Given the description of an element on the screen output the (x, y) to click on. 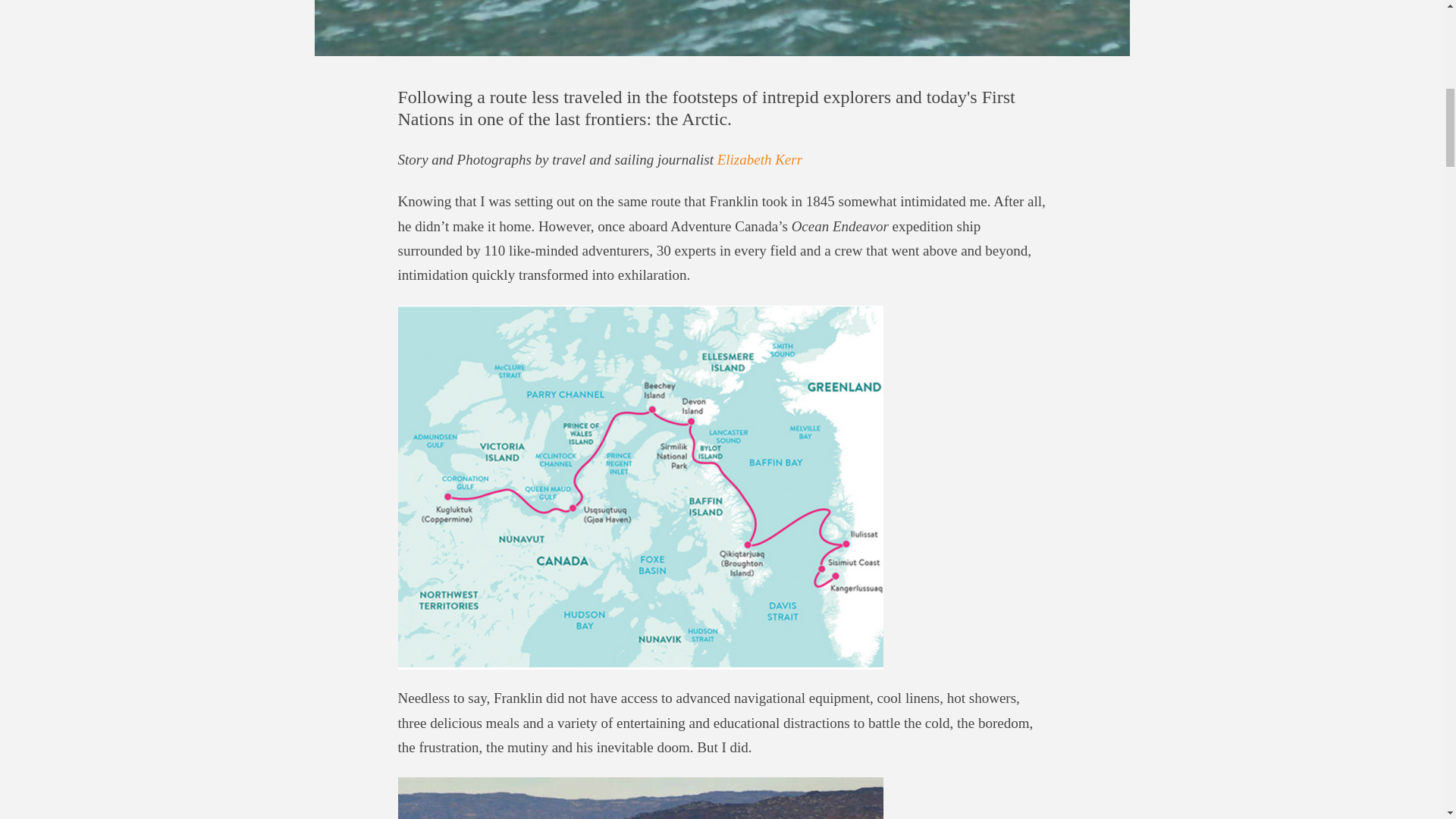
Elizabeth Kerr (759, 159)
